Given the description of an element on the screen output the (x, y) to click on. 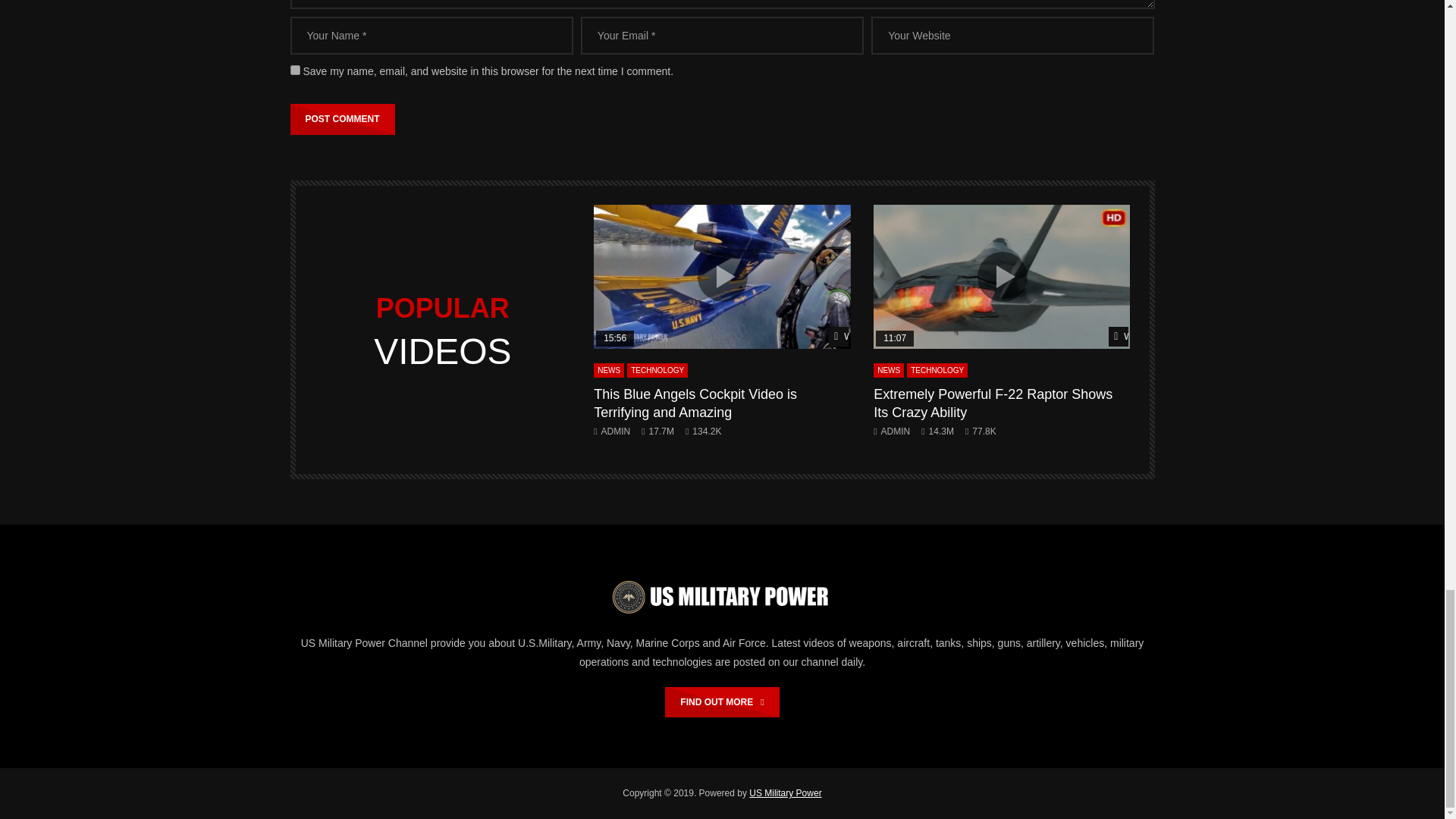
yes (294, 70)
Post comment (341, 119)
